Given the description of an element on the screen output the (x, y) to click on. 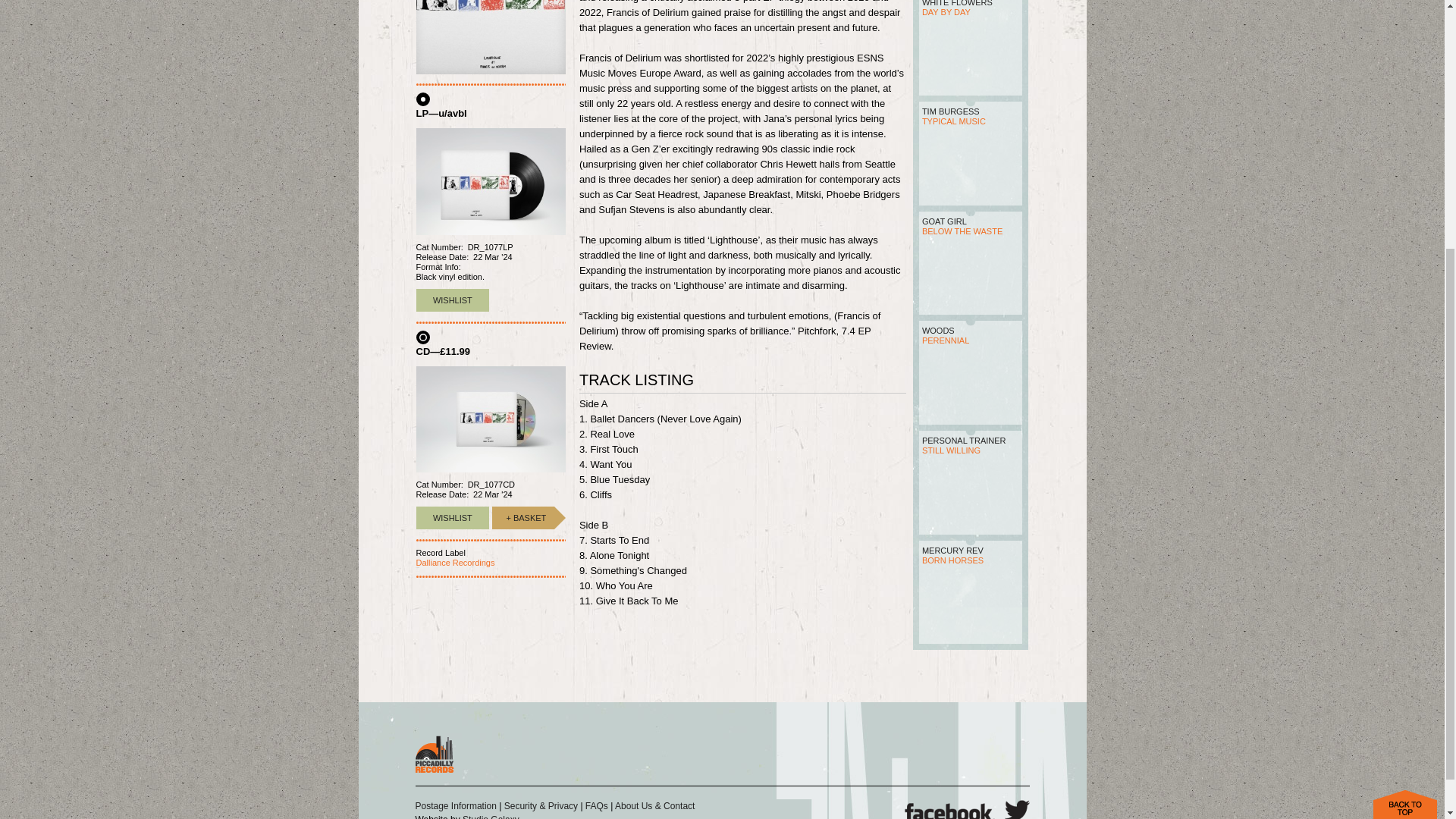
Dalliance Recordings (454, 562)
WISHLIST (451, 300)
WISHLIST (451, 517)
Search for other items on Dalliance Recordings (454, 562)
Item usually despatched within 2-10 days (523, 517)
